Given the description of an element on the screen output the (x, y) to click on. 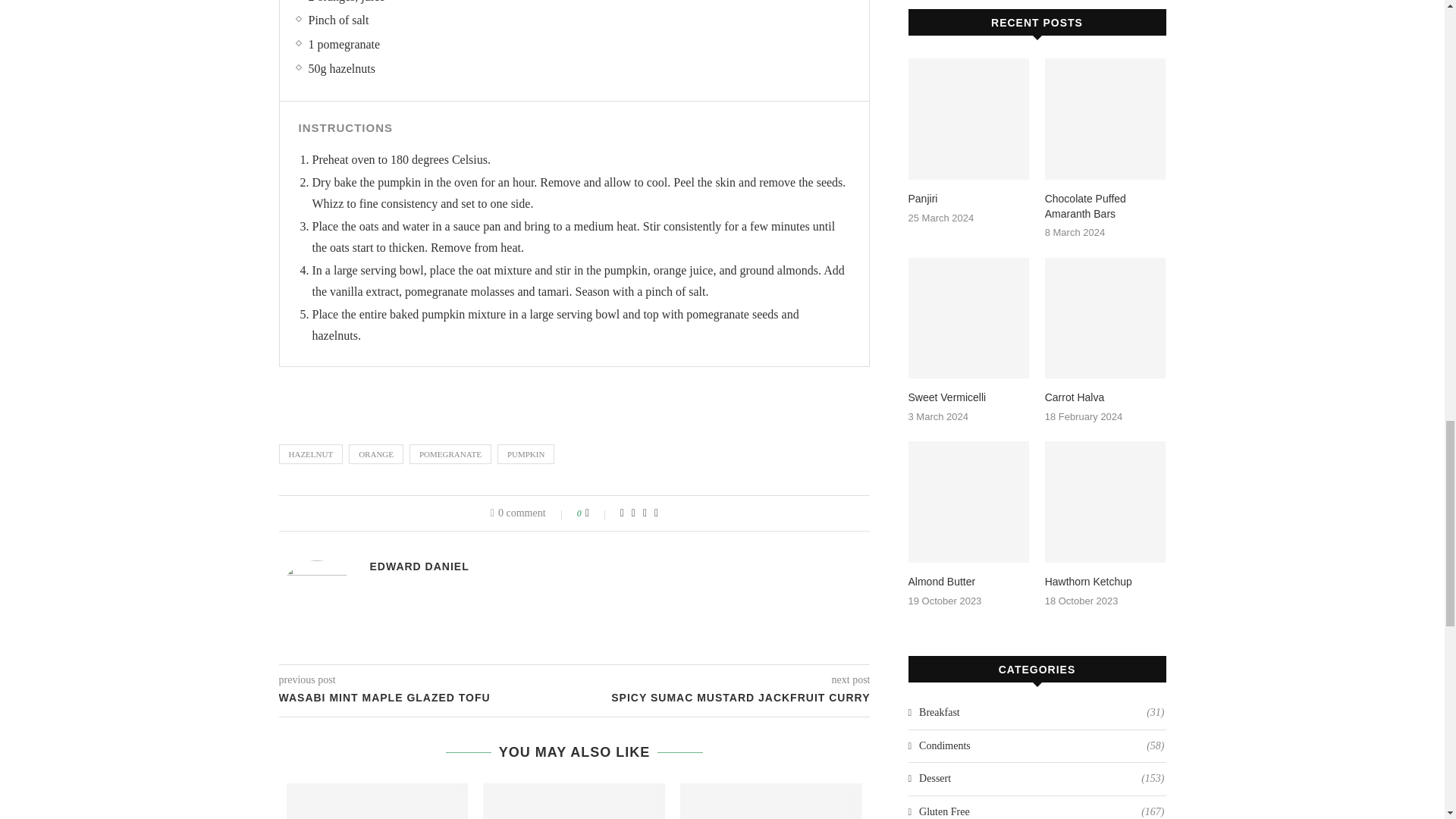
Sweet Vermicelli (770, 800)
POMEGRANATE (450, 454)
Chocolate Puffed Amaranth Bars (574, 800)
Panjiri (377, 800)
PUMPKIN (525, 454)
ORANGE (376, 454)
HAZELNUT (311, 454)
Like (597, 512)
Author Edward Daniel (418, 566)
